Given the description of an element on the screen output the (x, y) to click on. 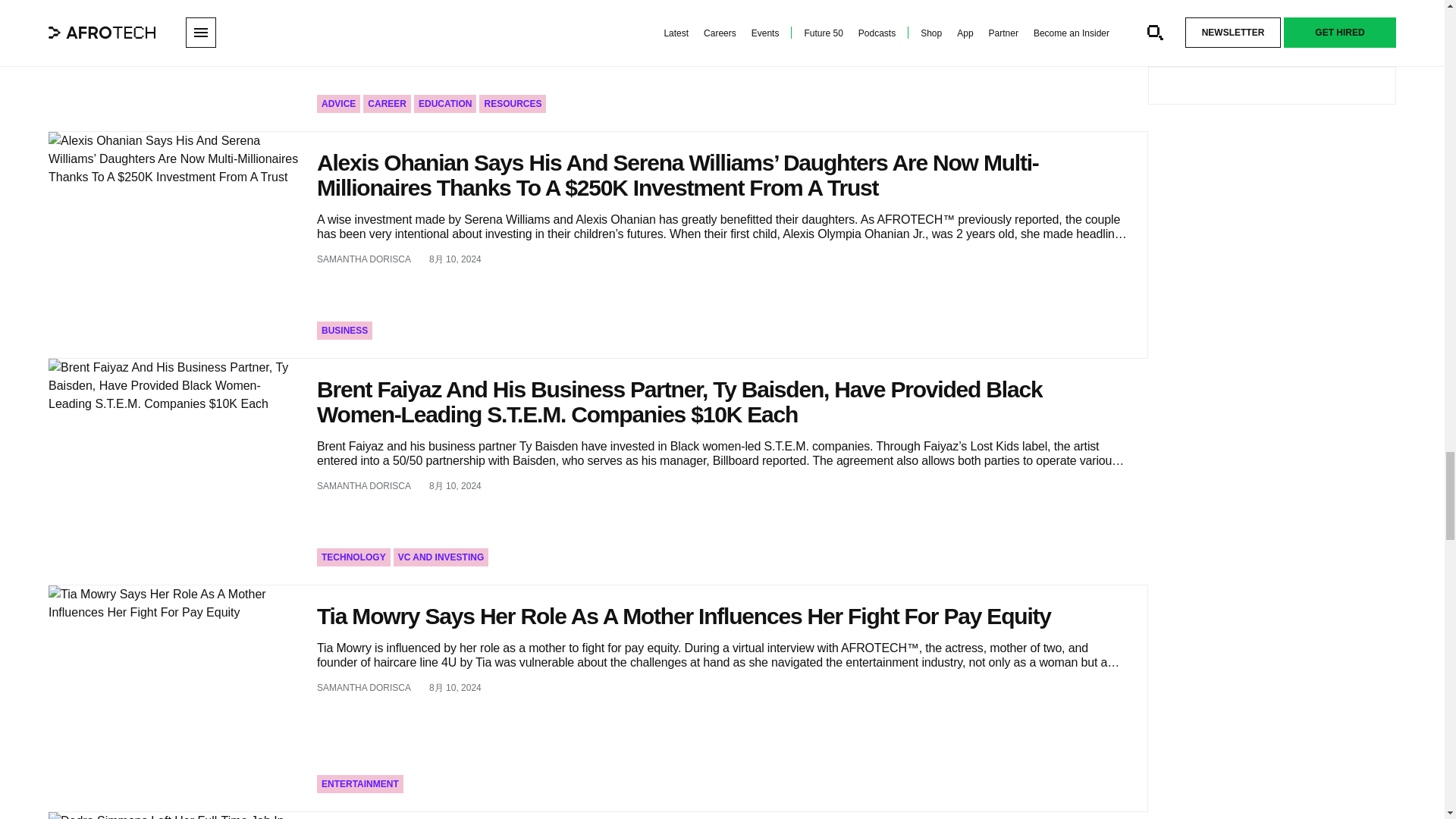
How to Ask for a Letter of Recommendation (173, 65)
